Given the description of an element on the screen output the (x, y) to click on. 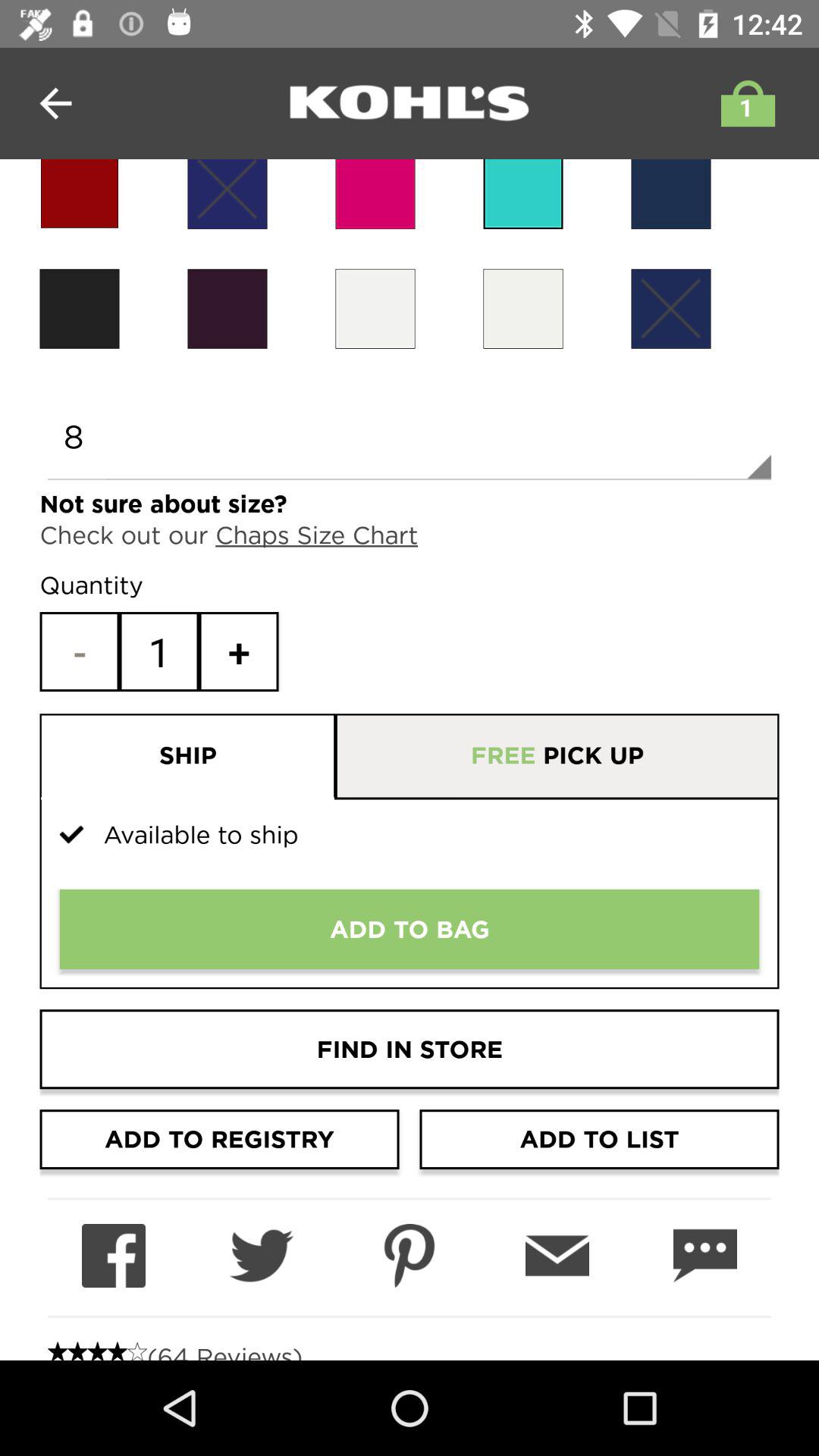
return to previous page (55, 103)
